Given the description of an element on the screen output the (x, y) to click on. 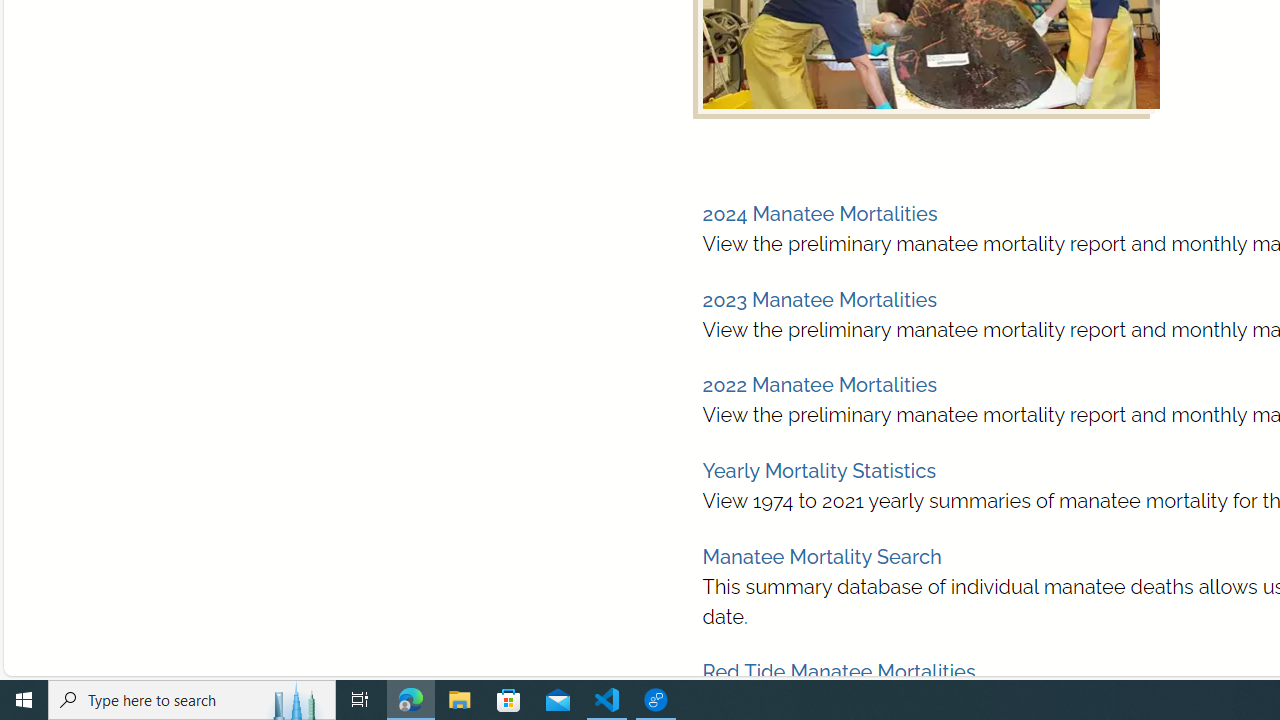
Red Tide Manatee Mortalities (838, 672)
2023 Manatee Mortalities (819, 299)
2022 Manatee Mortalities (818, 385)
Yearly Mortality Statistics (818, 471)
2024 Manatee Mortalities (819, 214)
Manatee Mortality Search (821, 556)
